Given the description of an element on the screen output the (x, y) to click on. 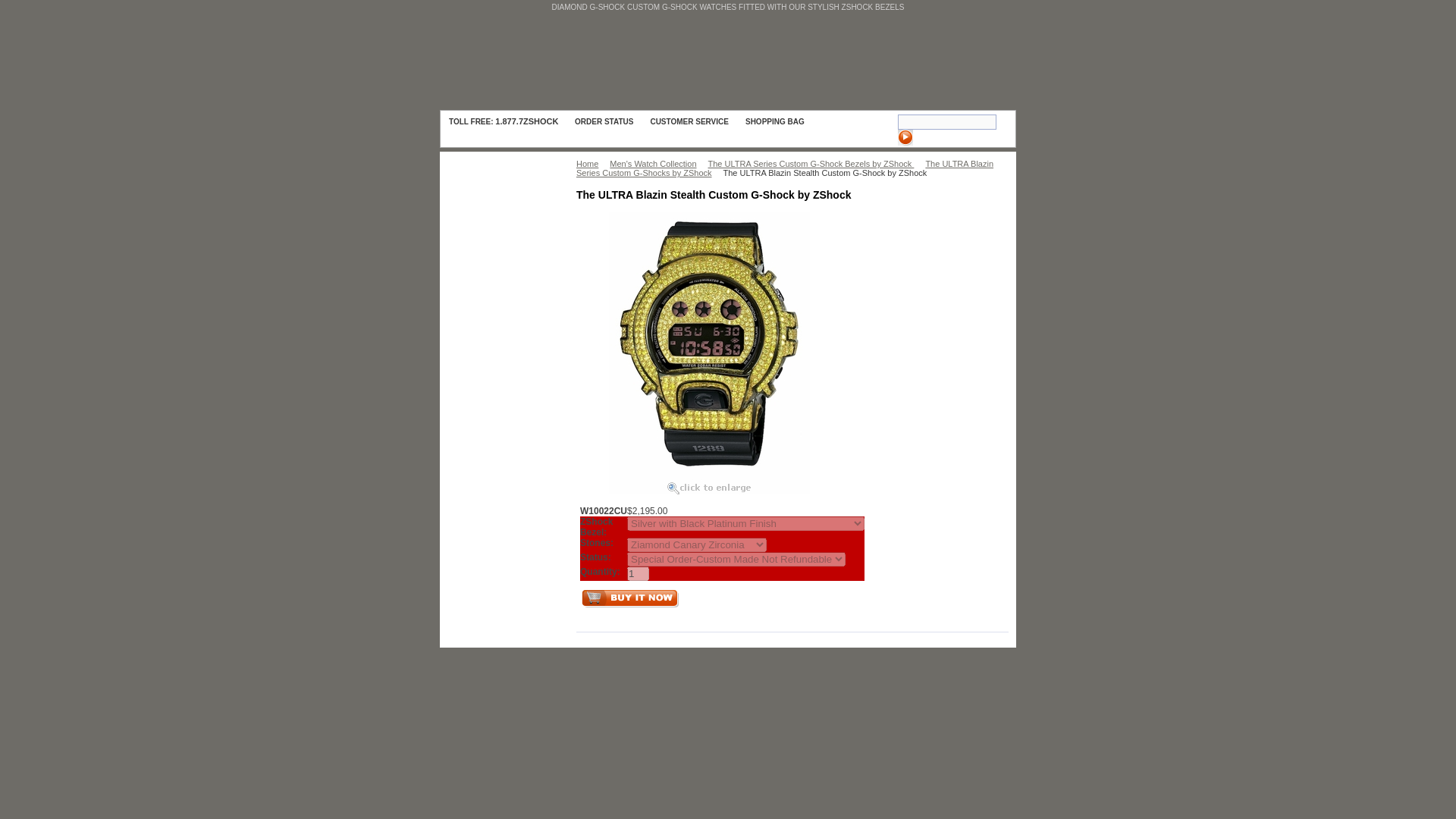
1 (638, 573)
SHOPPING BAG (787, 121)
CUSTOMER SERVICE (689, 121)
The ULTRA Blazin Series Custom G-Shocks by ZShock (784, 167)
Go (905, 137)
Men's Watch Collection (656, 163)
Home (590, 163)
ORDER STATUS (604, 121)
The ULTRA Series Custom G-Shock Bezels by ZShock (814, 163)
